Given the description of an element on the screen output the (x, y) to click on. 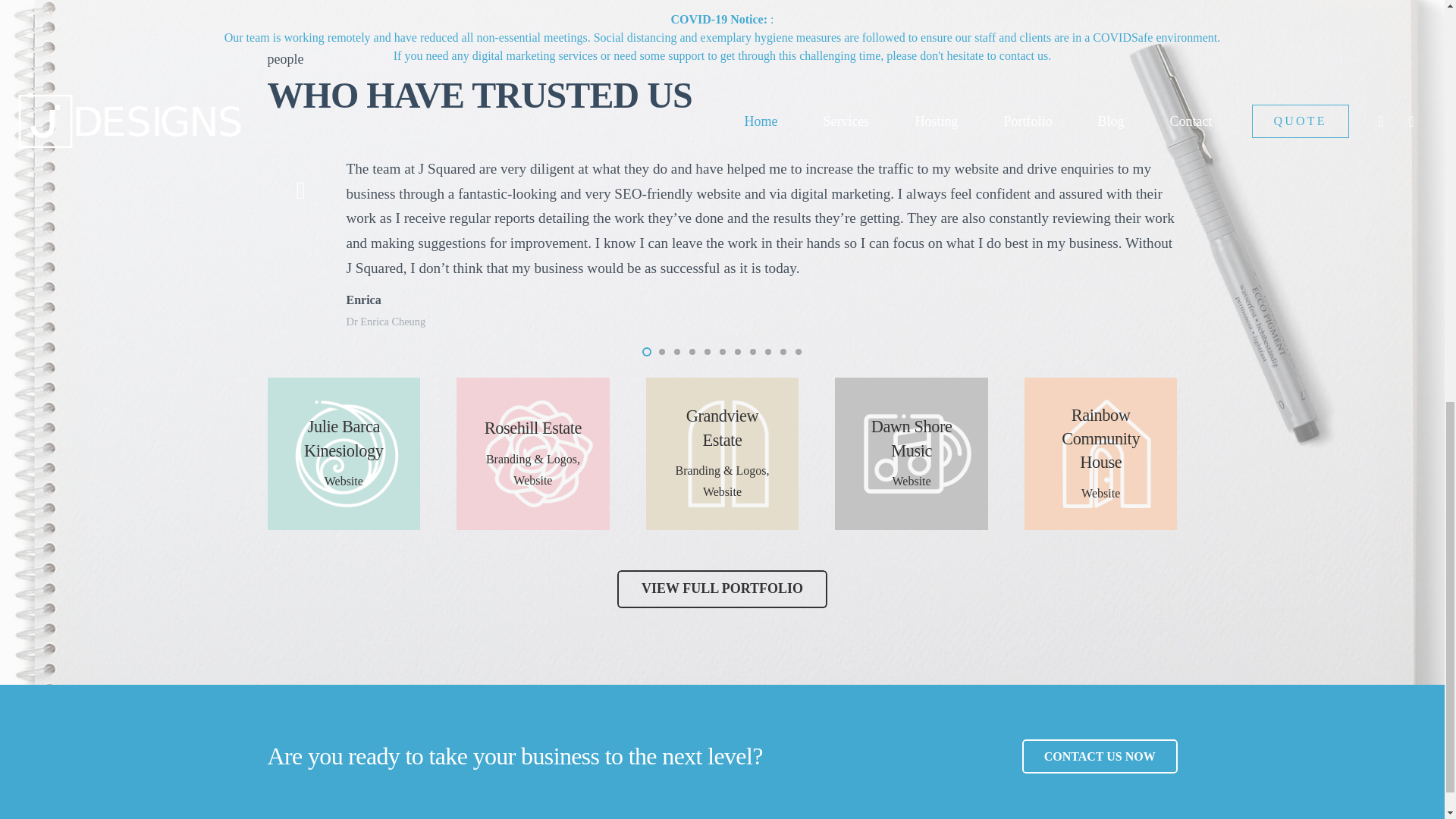
Back to top (1413, 30)
